Given the description of an element on the screen output the (x, y) to click on. 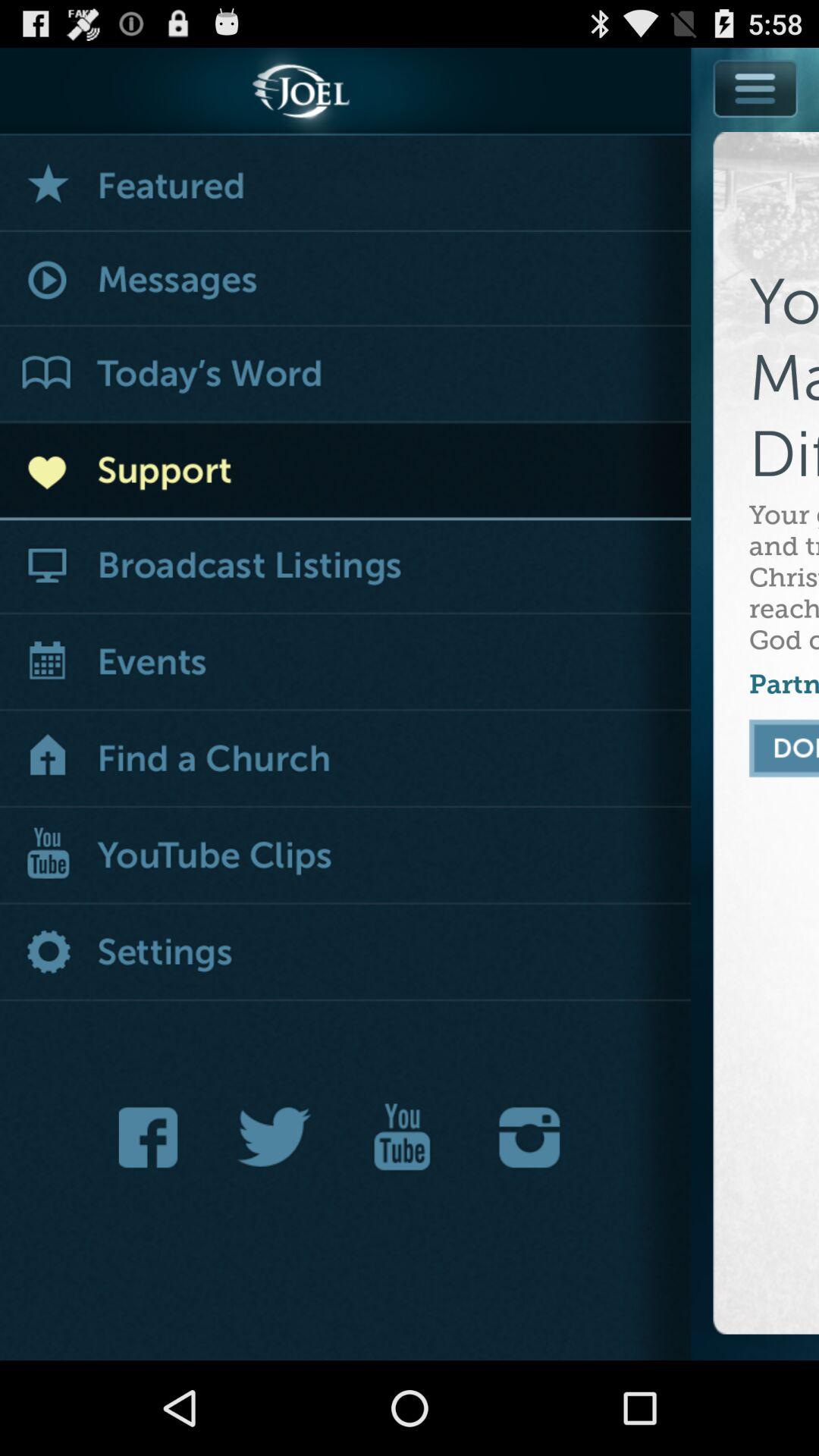
show app options (755, 88)
